Given the description of an element on the screen output the (x, y) to click on. 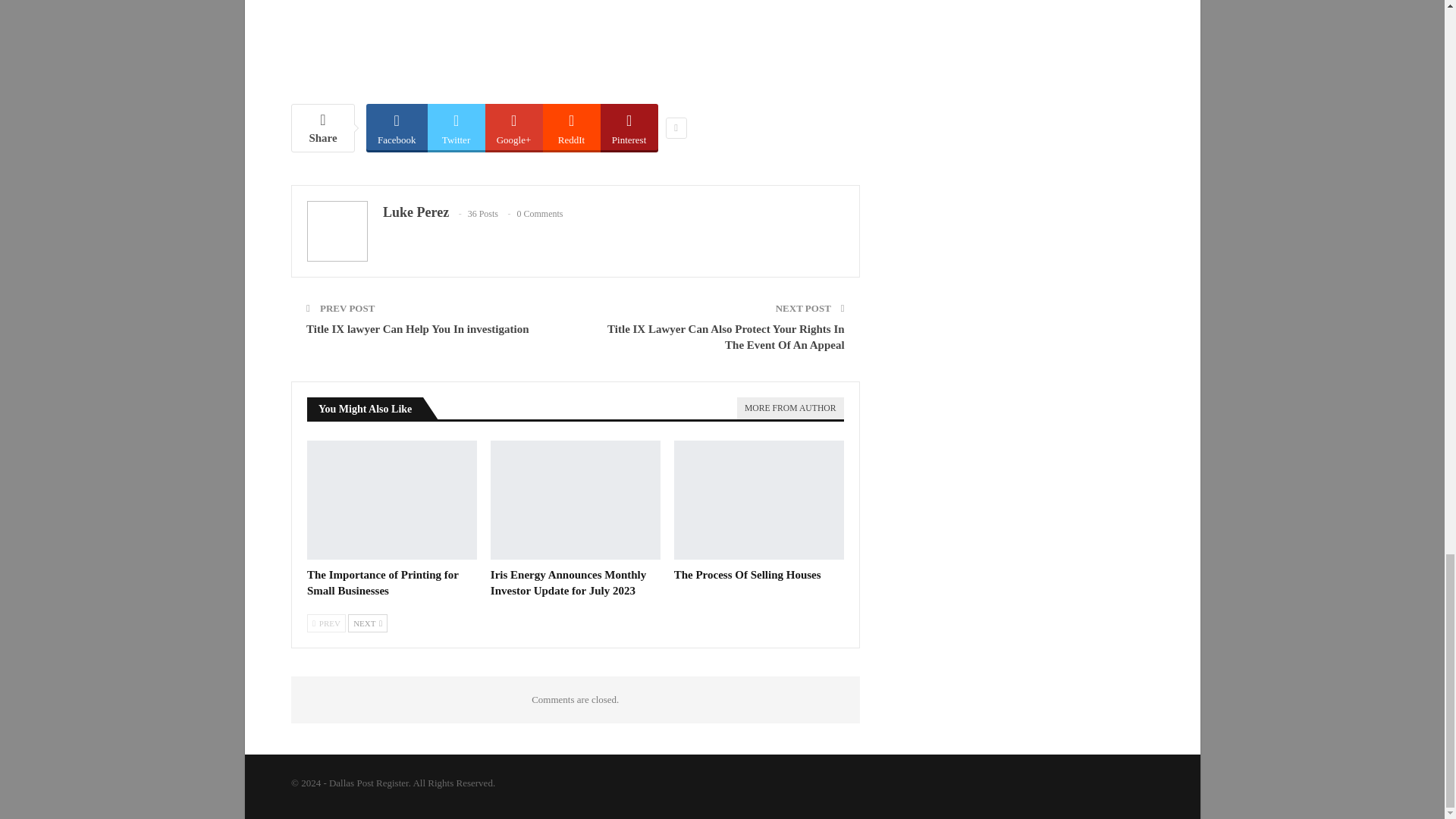
Pinterest (628, 126)
Iris Energy Announces Monthly Investor Update for July 2023 (568, 582)
The Importance of Printing for Small Businesses (382, 582)
The Process Of Selling Houses (759, 499)
Title IX lawyer Can Help You In investigation (417, 328)
Previous (326, 623)
The Process Of Selling Houses (747, 574)
Next (367, 623)
Facebook (397, 126)
Luke Perez (415, 212)
The Importance of Printing for Small Businesses (392, 499)
ReddIt (571, 126)
Iris Energy Announces Monthly Investor Update for July 2023 (575, 499)
Twitter (456, 126)
